Given the description of an element on the screen output the (x, y) to click on. 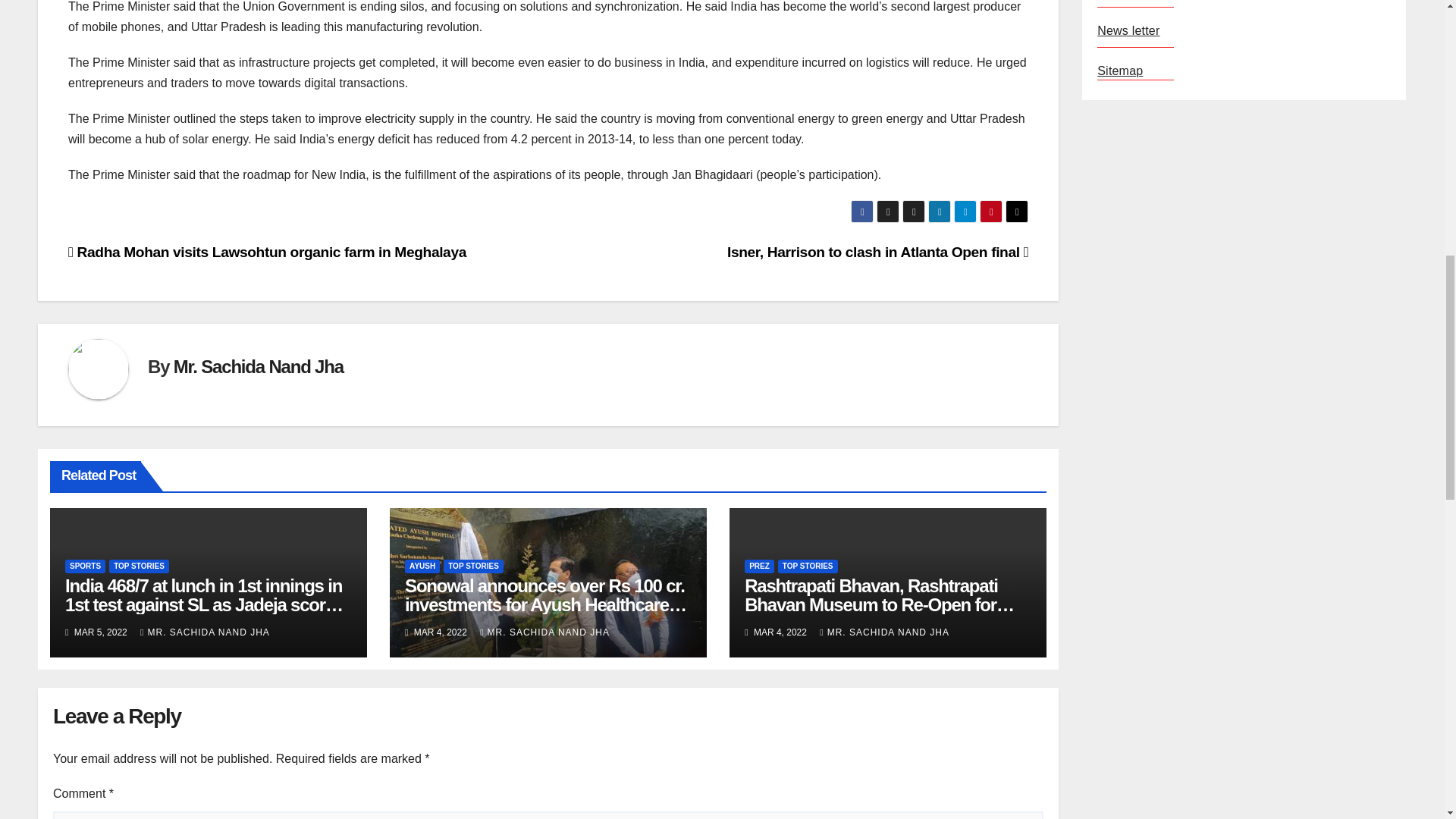
Radha Mohan visits Lawsohtun organic farm in Meghalaya (266, 252)
Isner, Harrison to clash in Atlanta Open final (876, 252)
TOP STORIES (138, 566)
Mr. Sachida Nand Jha (258, 366)
SPORTS (84, 566)
